Given the description of an element on the screen output the (x, y) to click on. 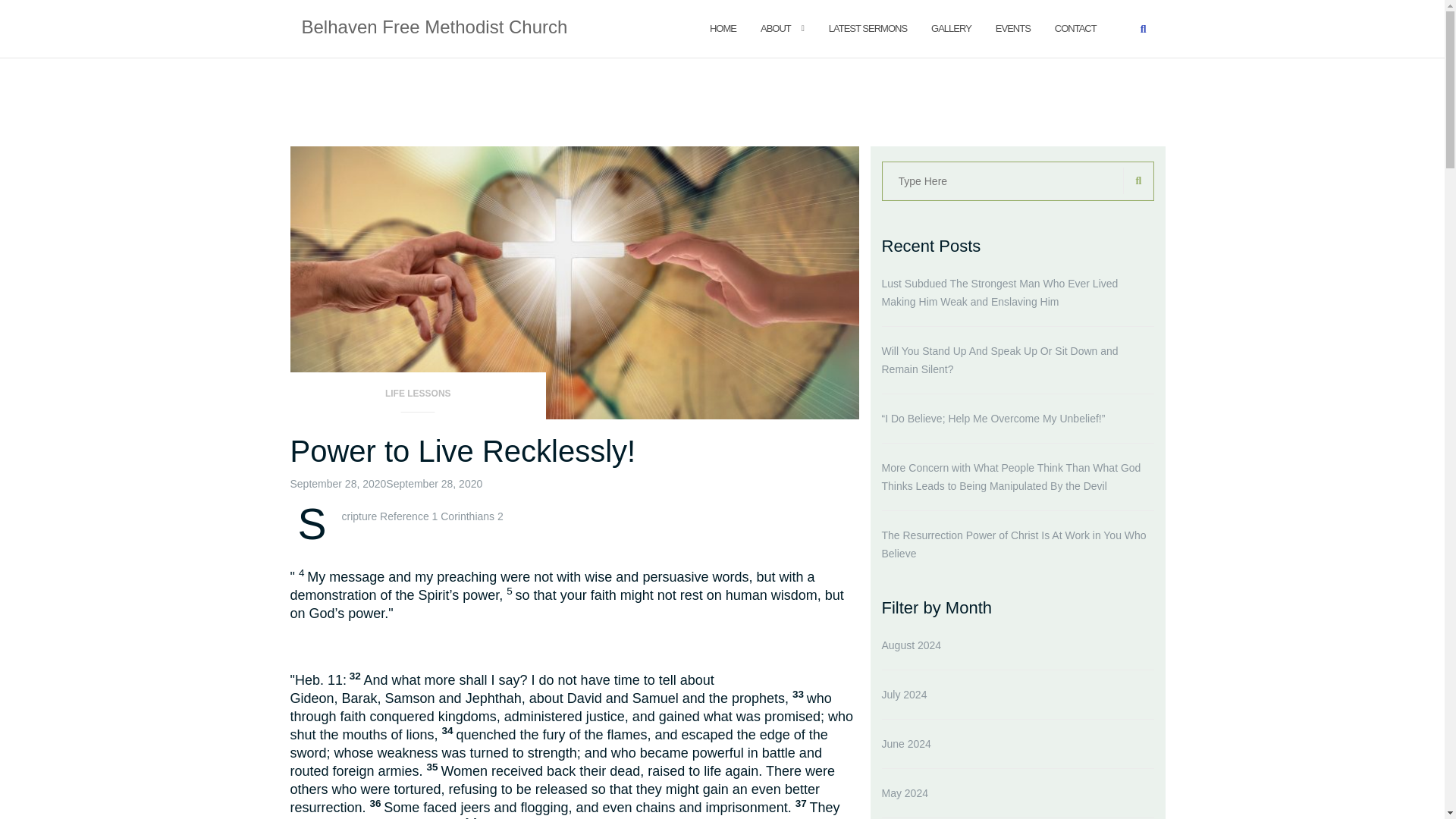
Power to Live Recklessly! (461, 450)
LATEST SERMONS (867, 28)
LIFE LESSONS (417, 398)
GALLERY (951, 28)
Belhaven Free Methodist Church (434, 28)
Gallery (951, 28)
Contact (1075, 28)
CONTACT (1075, 28)
Latest Sermons (867, 28)
